Given the description of an element on the screen output the (x, y) to click on. 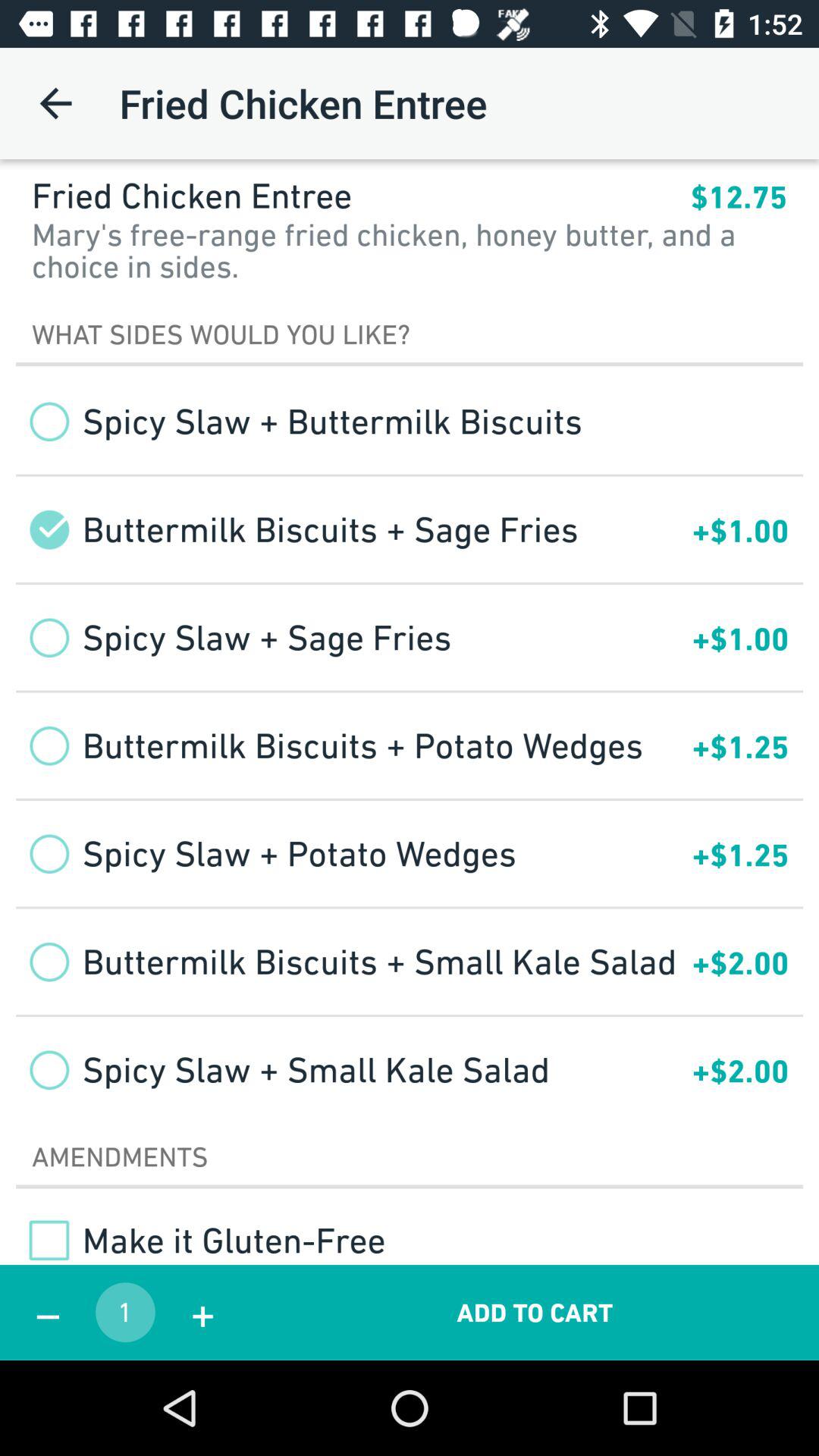
press app to the right of the 1 (202, 1312)
